Given the description of an element on the screen output the (x, y) to click on. 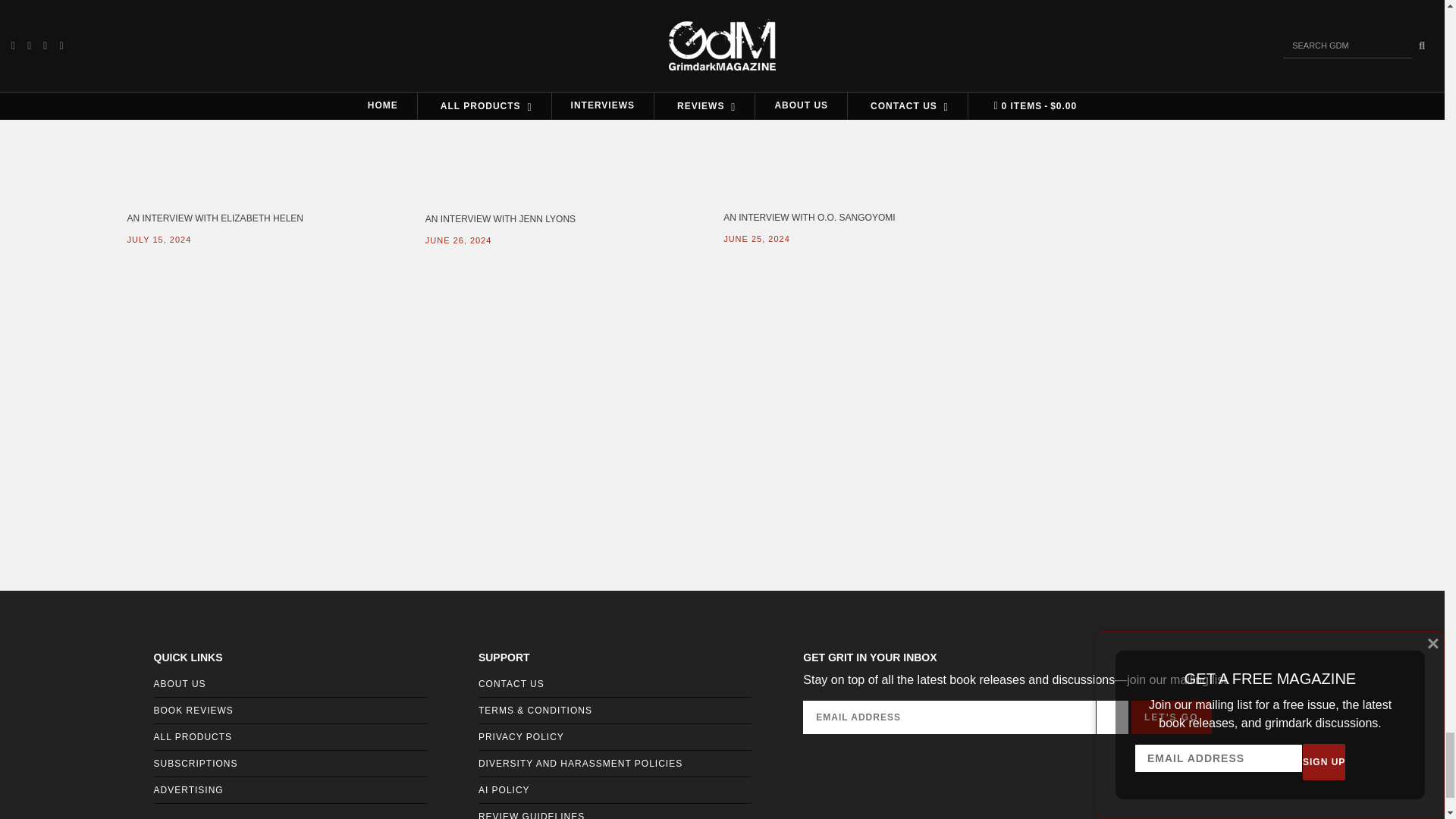
Let's Go (1171, 717)
